Given the description of an element on the screen output the (x, y) to click on. 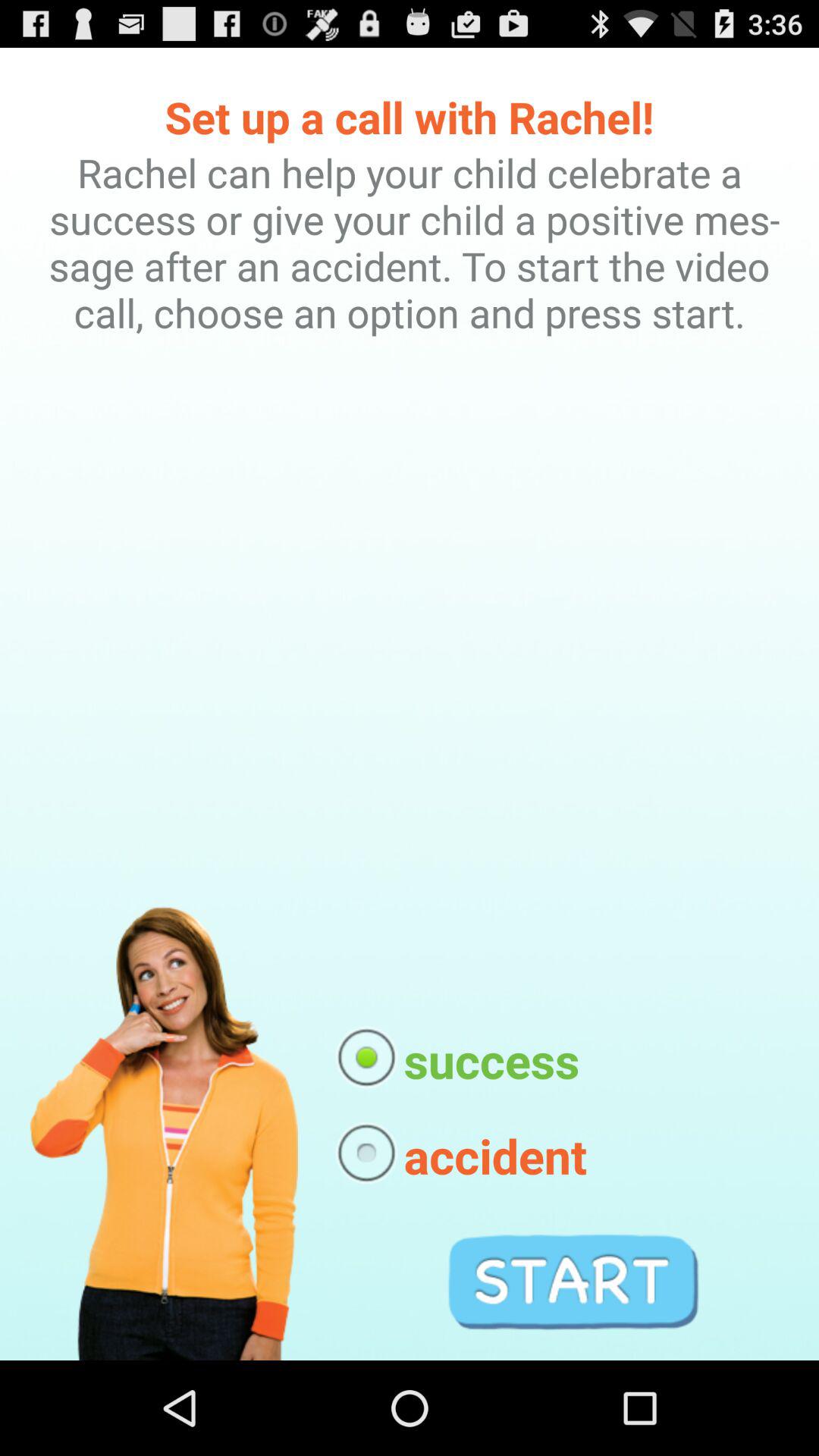
choose icon below accident (573, 1281)
